Given the description of an element on the screen output the (x, y) to click on. 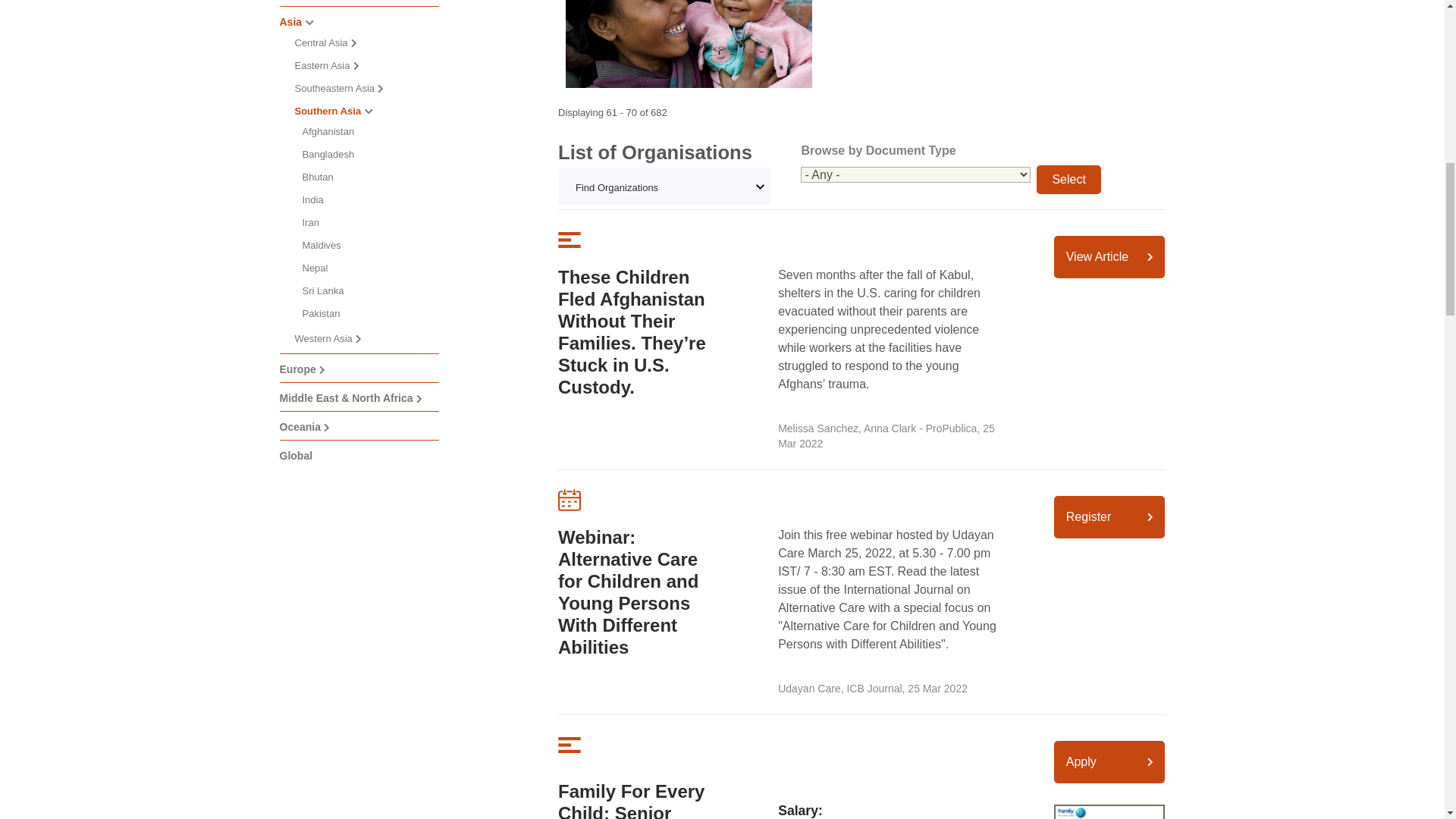
Select (1068, 179)
Find Organizations (663, 186)
